Given the description of an element on the screen output the (x, y) to click on. 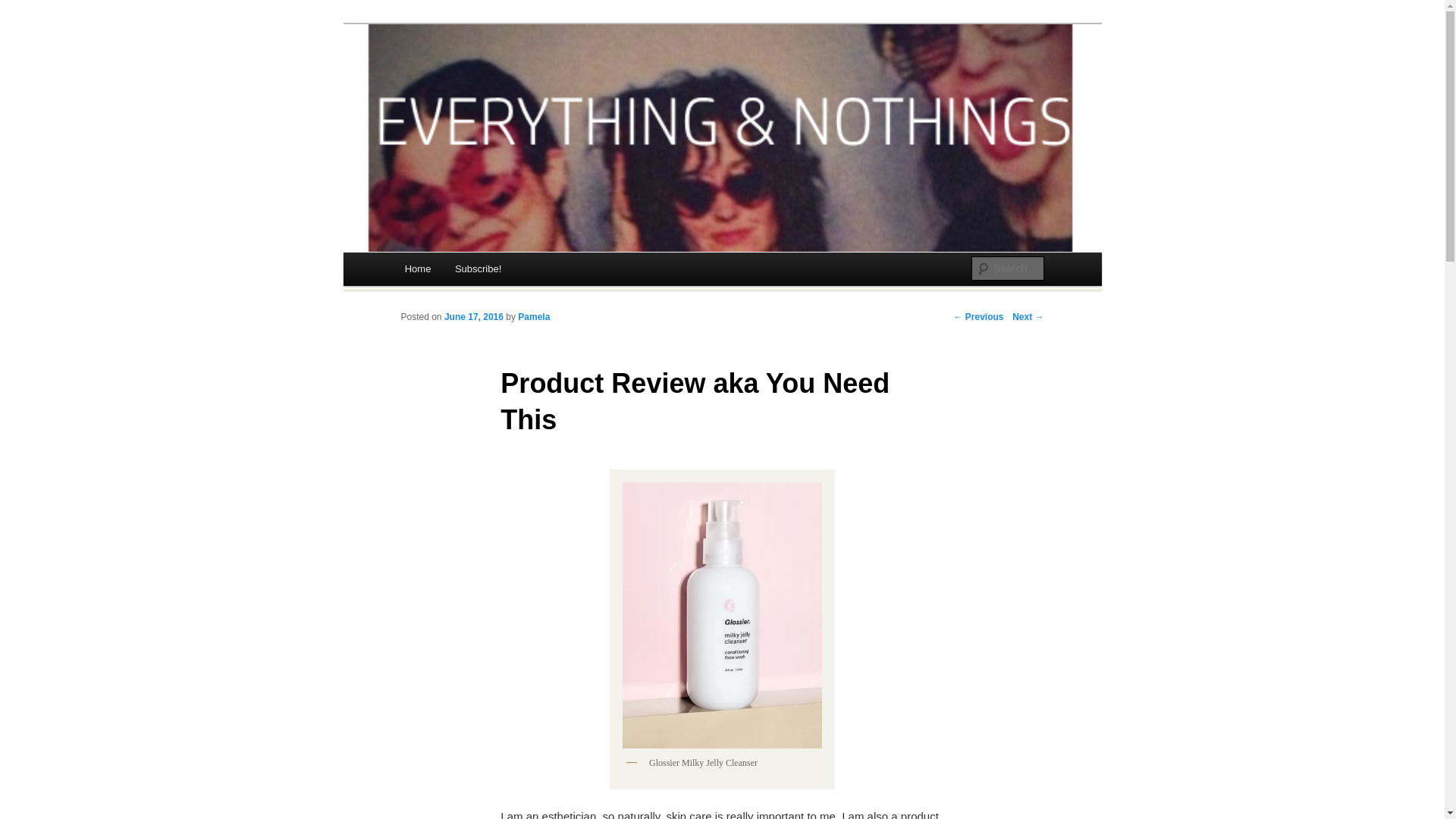
Home (417, 268)
Everything and Nothings (534, 82)
Subscribe! (477, 268)
Search (24, 8)
Everything and Nothings (534, 82)
Pamela (534, 317)
View all posts by Pamela (534, 317)
June 17, 2016 (473, 317)
